Given the description of an element on the screen output the (x, y) to click on. 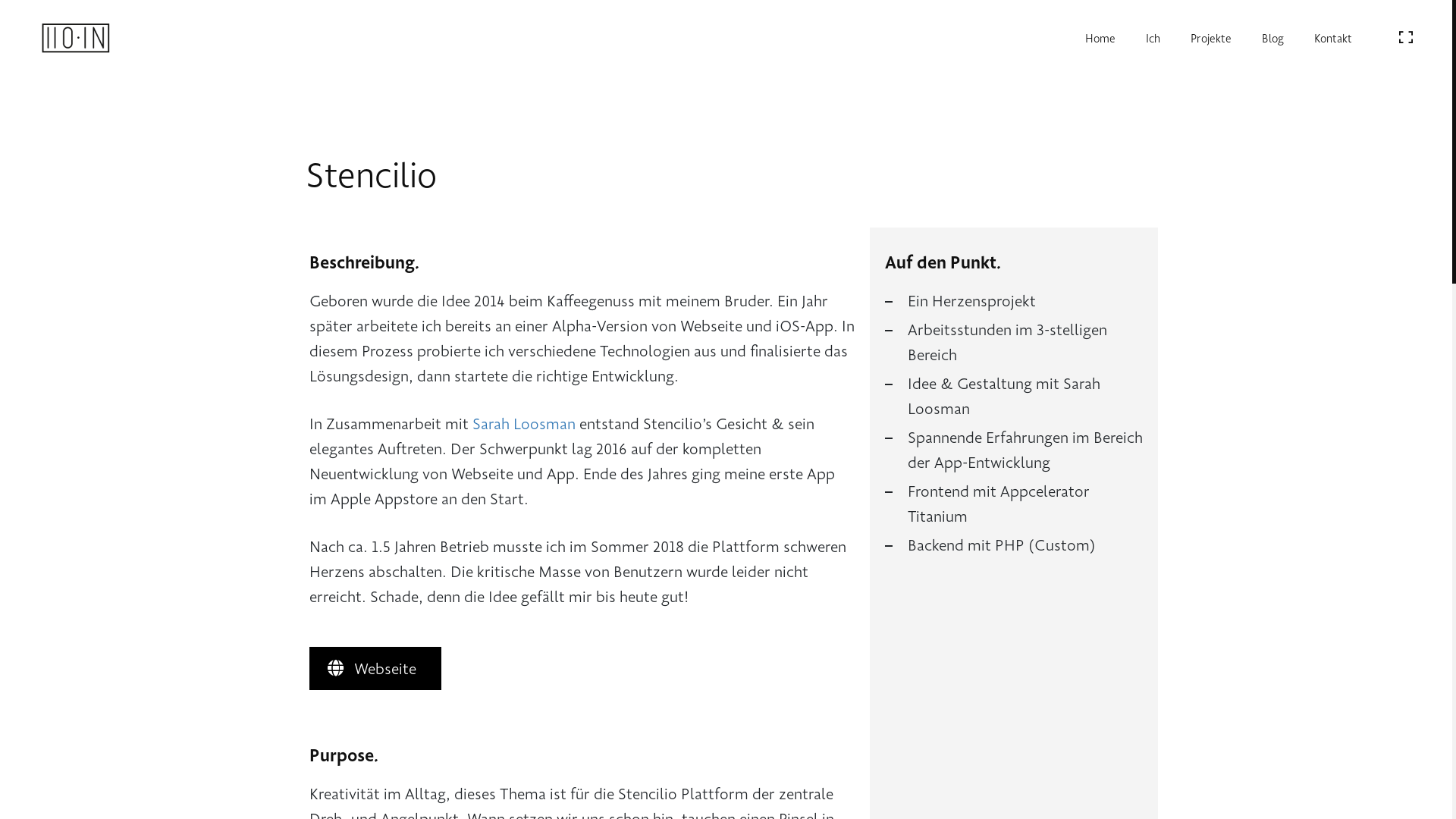
Projekte Element type: text (1210, 37)
Idee & Gestaltung mit Sarah Loosman Element type: text (1024, 395)
Home Element type: text (1100, 37)
Sarah Loosman Element type: text (522, 423)
Kontakt Element type: text (1333, 37)
Ich Element type: text (1152, 37)
Blog Element type: text (1272, 37)
Webseite Element type: text (375, 668)
